Given the description of an element on the screen output the (x, y) to click on. 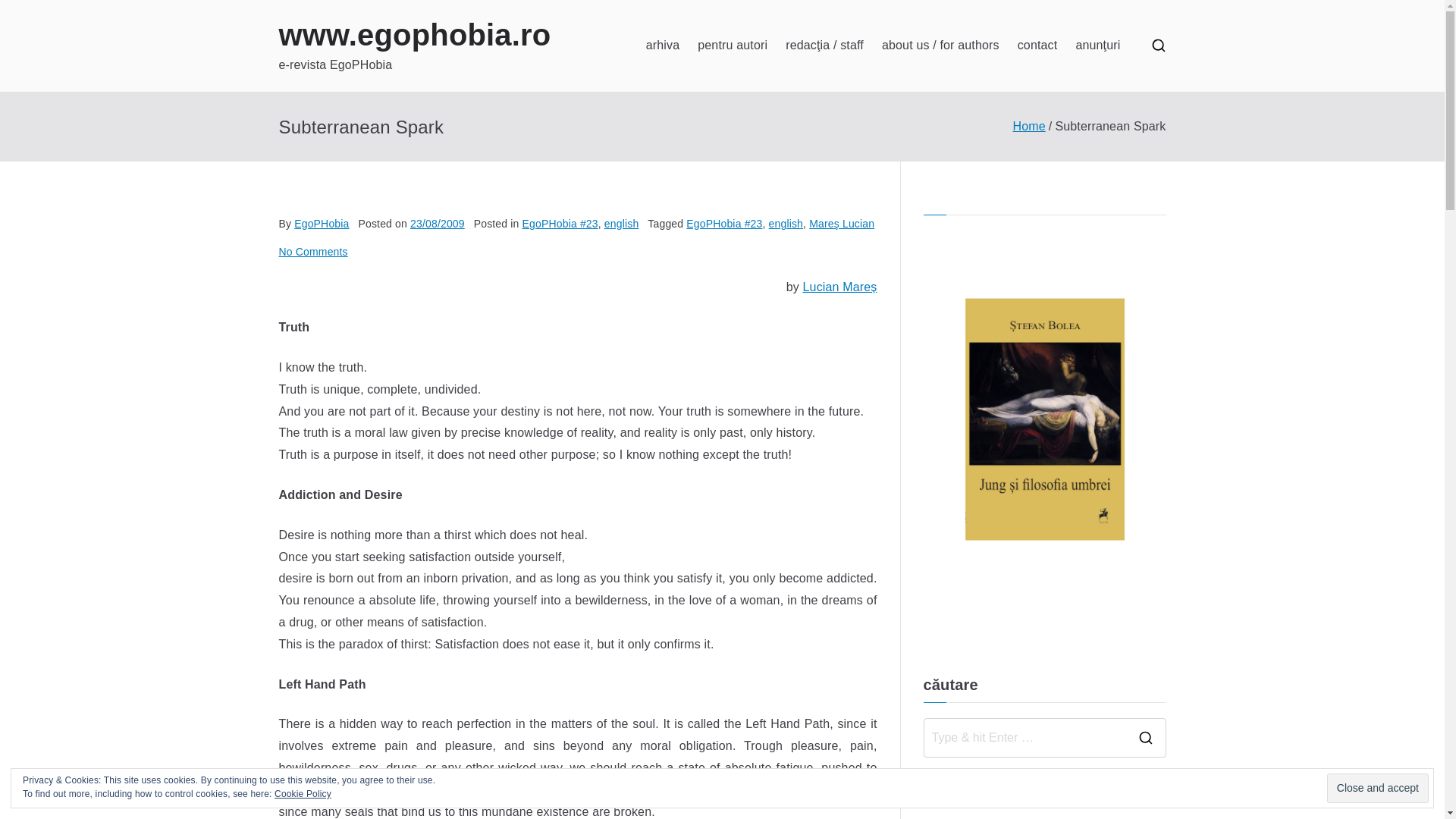
Close and accept (1377, 788)
Search (26, 12)
pentru autori (732, 45)
english (621, 223)
english (785, 223)
www.egophobia.ro (415, 34)
contact (1037, 45)
Search for: (1024, 737)
Home (1028, 125)
arhiva (662, 45)
